Given the description of an element on the screen output the (x, y) to click on. 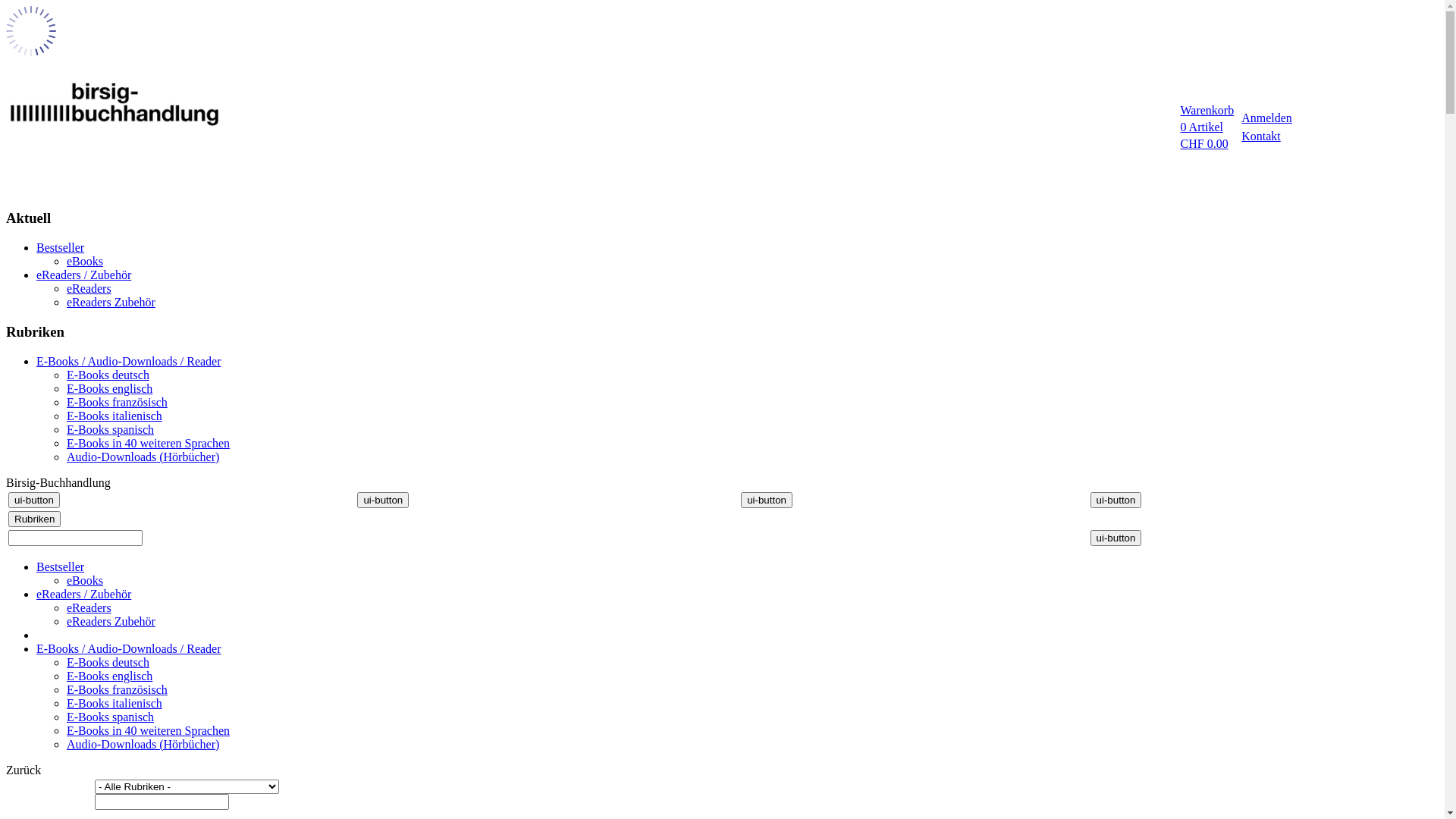
E-Books in 40 weiteren Sprachen Element type: text (147, 442)
Bestseller Element type: text (60, 566)
E-Books / Audio-Downloads / Reader Element type: text (128, 648)
E-Books deutsch Element type: text (107, 374)
ui-button Element type: text (766, 500)
E-Books spanisch Element type: text (109, 716)
Rubriken Element type: text (34, 519)
ui-button Element type: text (33, 500)
eBooks Element type: text (84, 260)
ui-button Element type: text (382, 500)
ui-button Element type: text (1116, 500)
E-Books italienisch Element type: text (114, 702)
Warenkorb
0 Artikel
CHF 0.00 Element type: text (1205, 127)
E-Books englisch Element type: text (109, 388)
Bestseller Element type: text (60, 247)
E-Books spanisch Element type: text (109, 429)
eReaders Element type: text (88, 607)
Kontakt Element type: text (1260, 135)
E-Books italienisch Element type: text (114, 415)
E-Books in 40 weiteren Sprachen Element type: text (147, 730)
E-Books deutsch Element type: text (107, 661)
Anmelden Element type: text (1266, 117)
ui-button Element type: text (1116, 538)
eBooks Element type: text (84, 580)
eReaders Element type: text (88, 288)
E-Books / Audio-Downloads / Reader Element type: text (128, 360)
E-Books englisch Element type: text (109, 675)
